Given the description of an element on the screen output the (x, y) to click on. 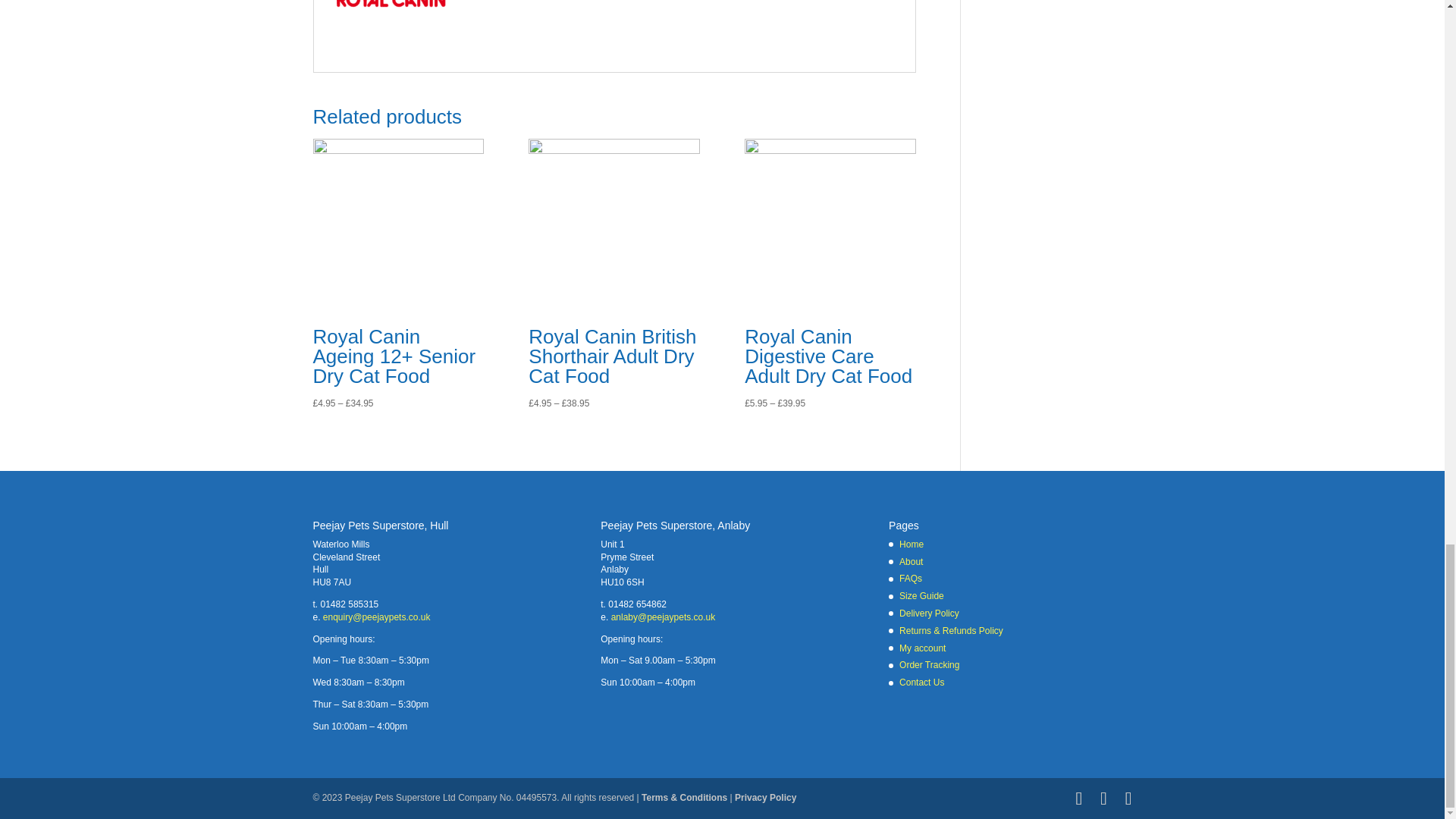
Royal Canin (392, 39)
